Given the description of an element on the screen output the (x, y) to click on. 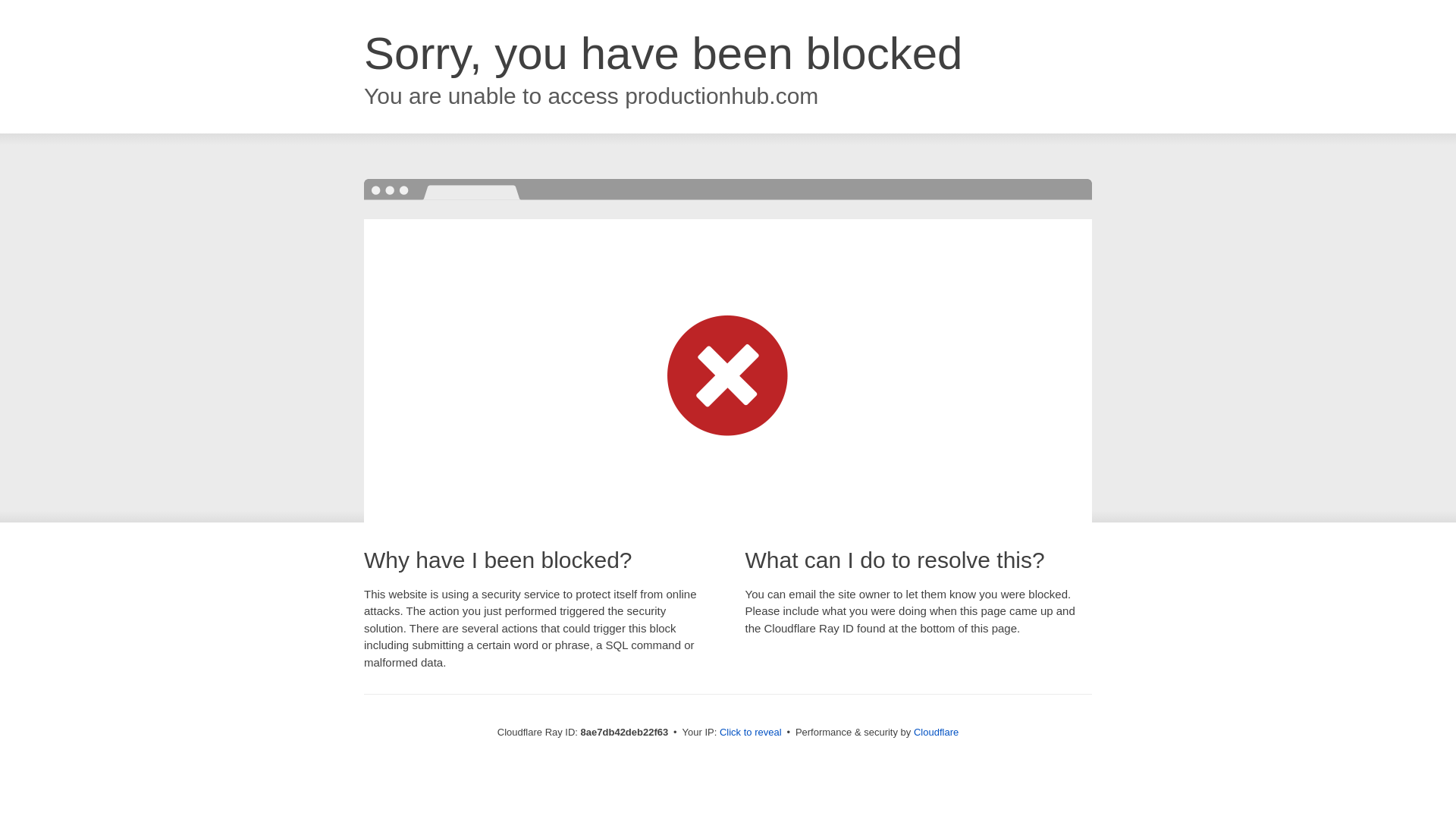
Click to reveal (750, 732)
Cloudflare (936, 731)
